Given the description of an element on the screen output the (x, y) to click on. 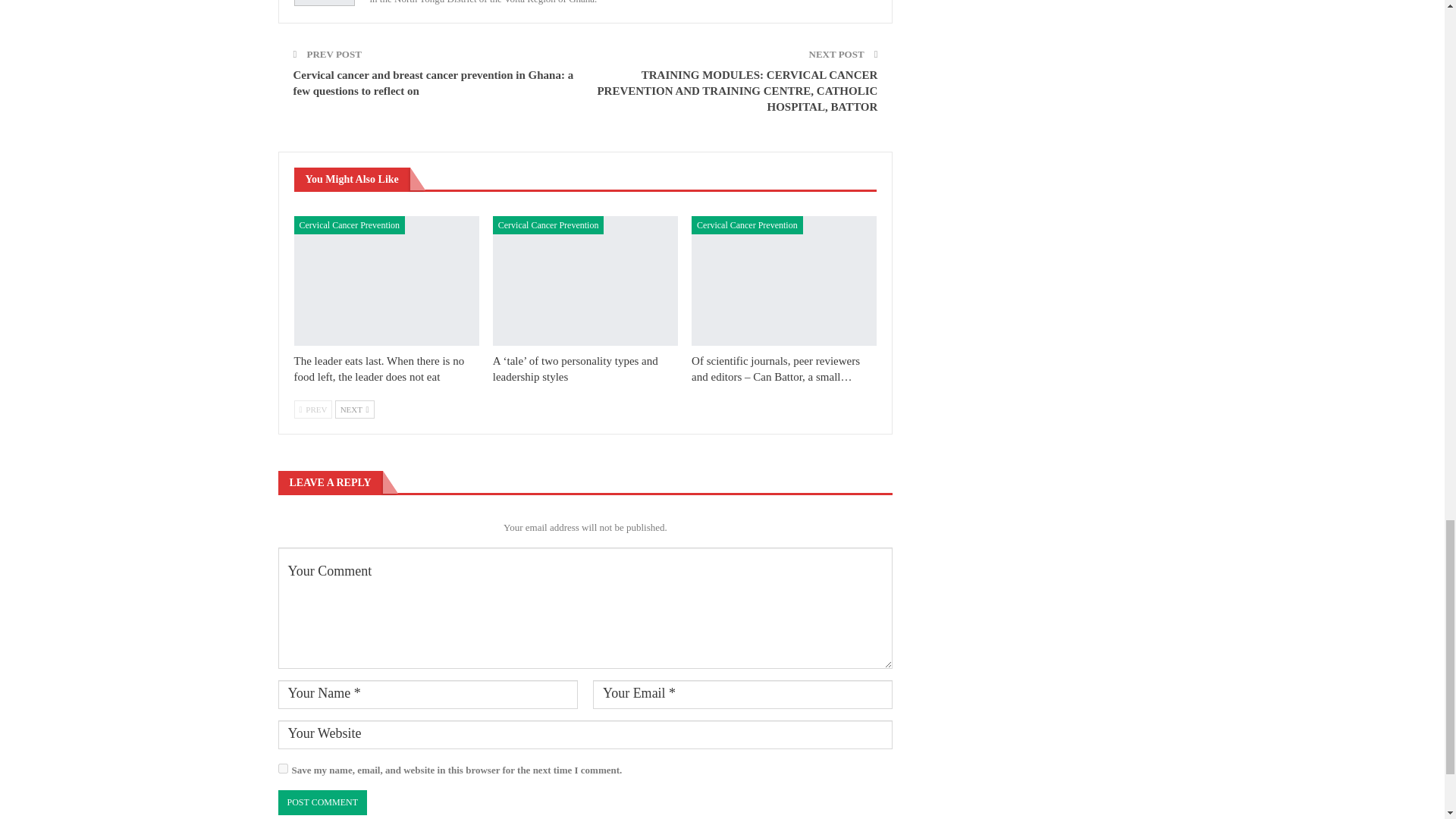
Post Comment (322, 802)
yes (282, 768)
